Given the description of an element on the screen output the (x, y) to click on. 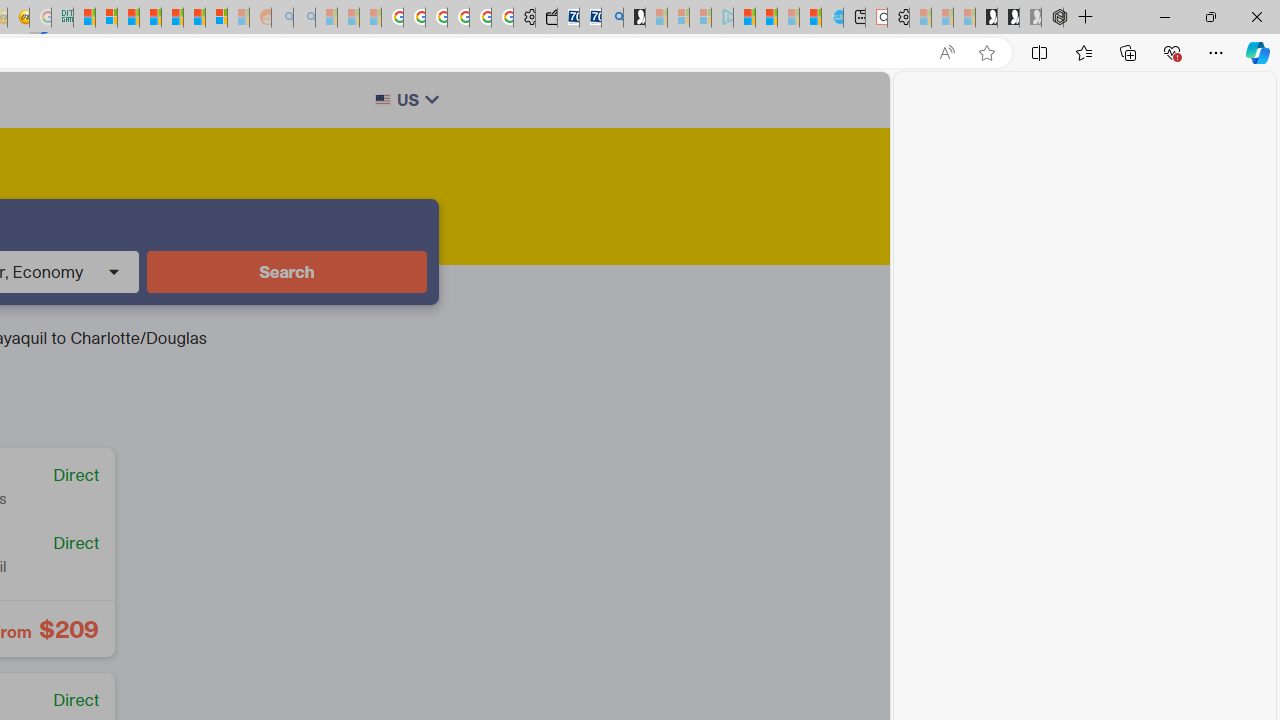
Split screen (1039, 52)
Microsoft account | Privacy - Sleeping (699, 17)
Cheap Car Rentals - Save70.com (590, 17)
MSNBC - MSN (84, 17)
New tab (854, 17)
Kinda Frugal - MSN (194, 17)
Bing Real Estate - Home sales and rental listings (612, 17)
Collections (1128, 52)
Browser essentials (1171, 52)
